Given the description of an element on the screen output the (x, y) to click on. 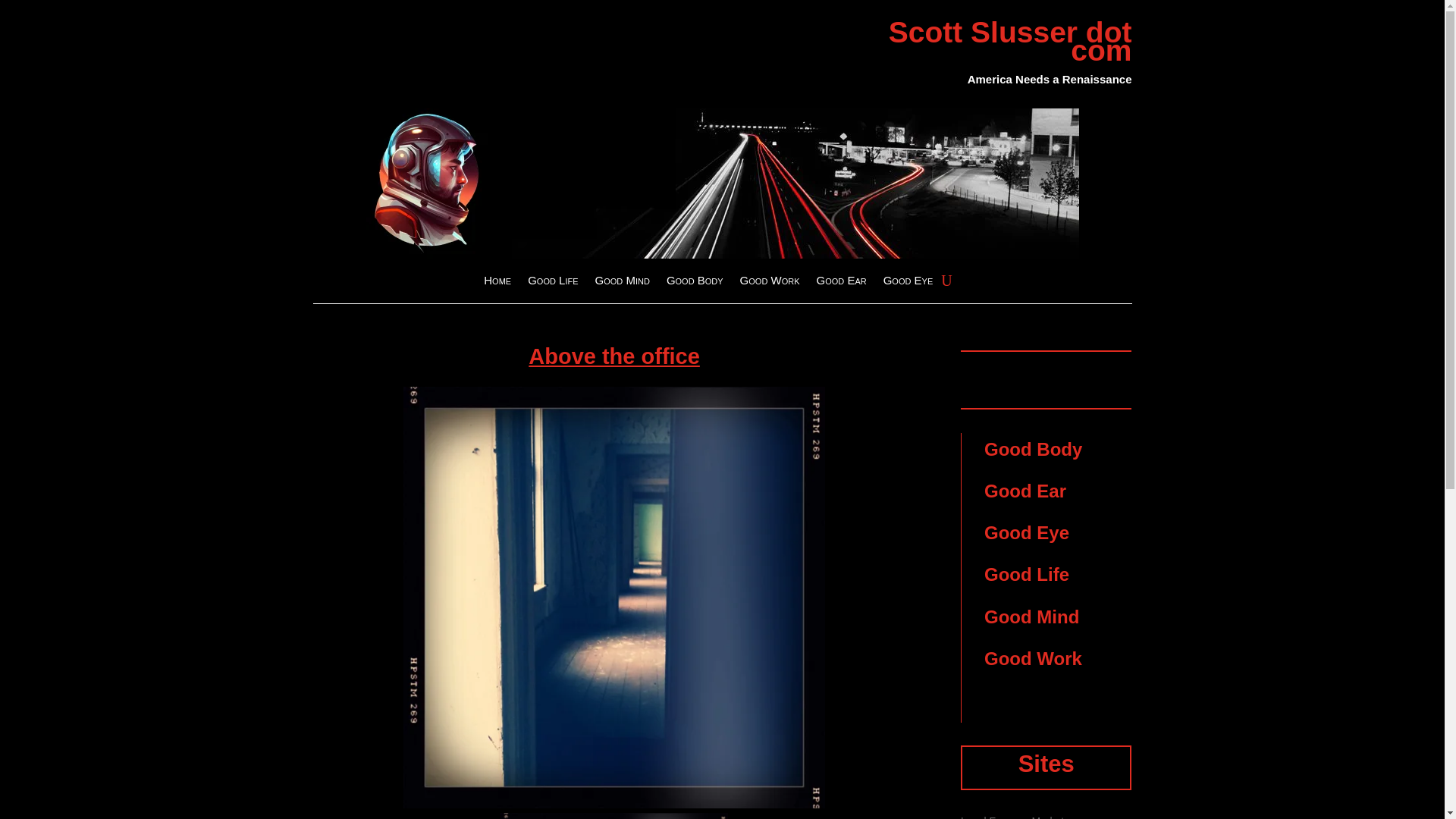
Good Eye (1026, 532)
Good Ear (840, 283)
Home (497, 283)
Good Life (1026, 574)
Good Work (1032, 658)
cropped-ss-withhead-bg (721, 183)
Good Mind (1031, 616)
Good Body (1032, 448)
Good Body (694, 283)
Good Work (769, 283)
